Given the description of an element on the screen output the (x, y) to click on. 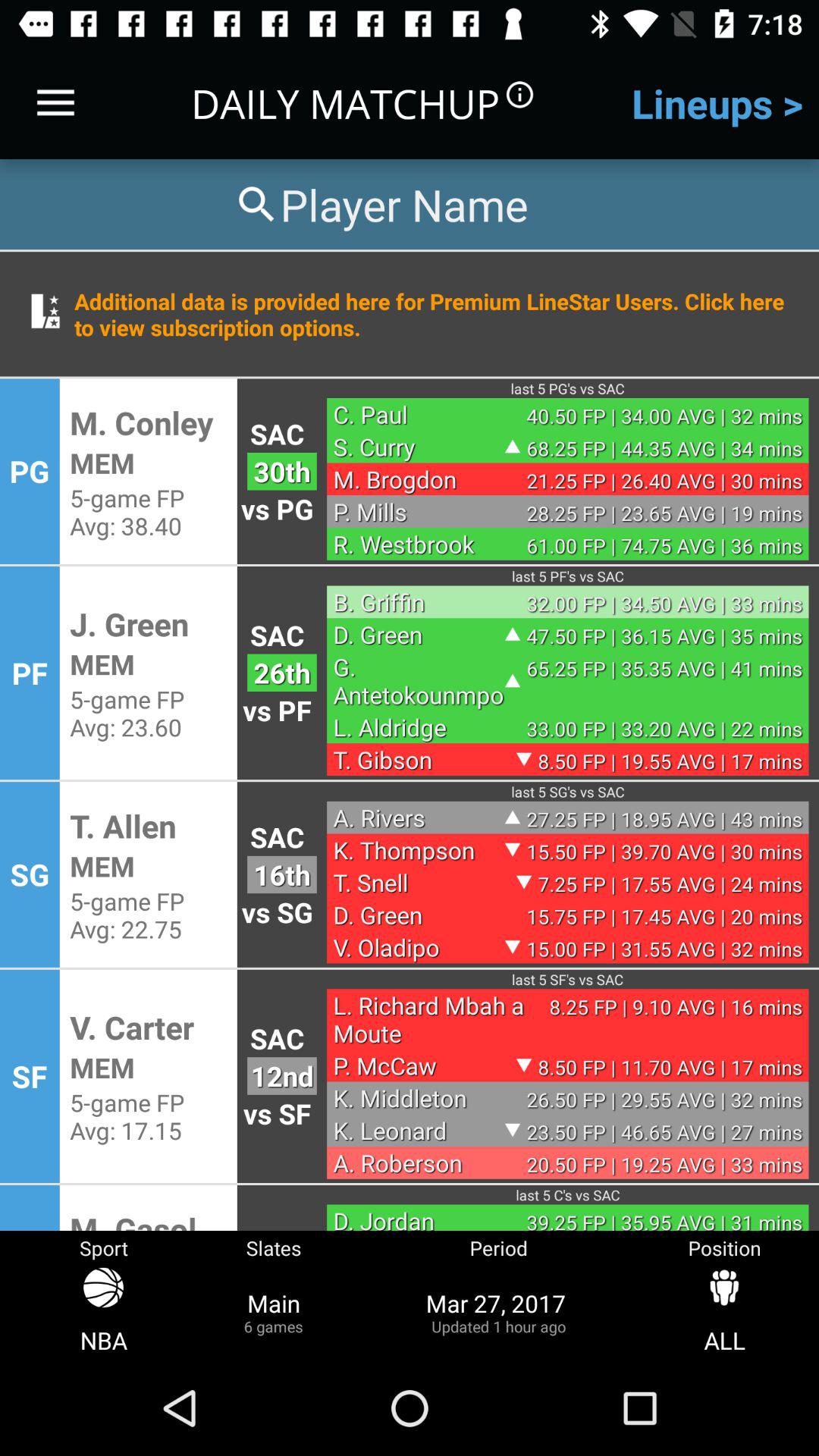
scroll to r. westbrook item (418, 543)
